Given the description of an element on the screen output the (x, y) to click on. 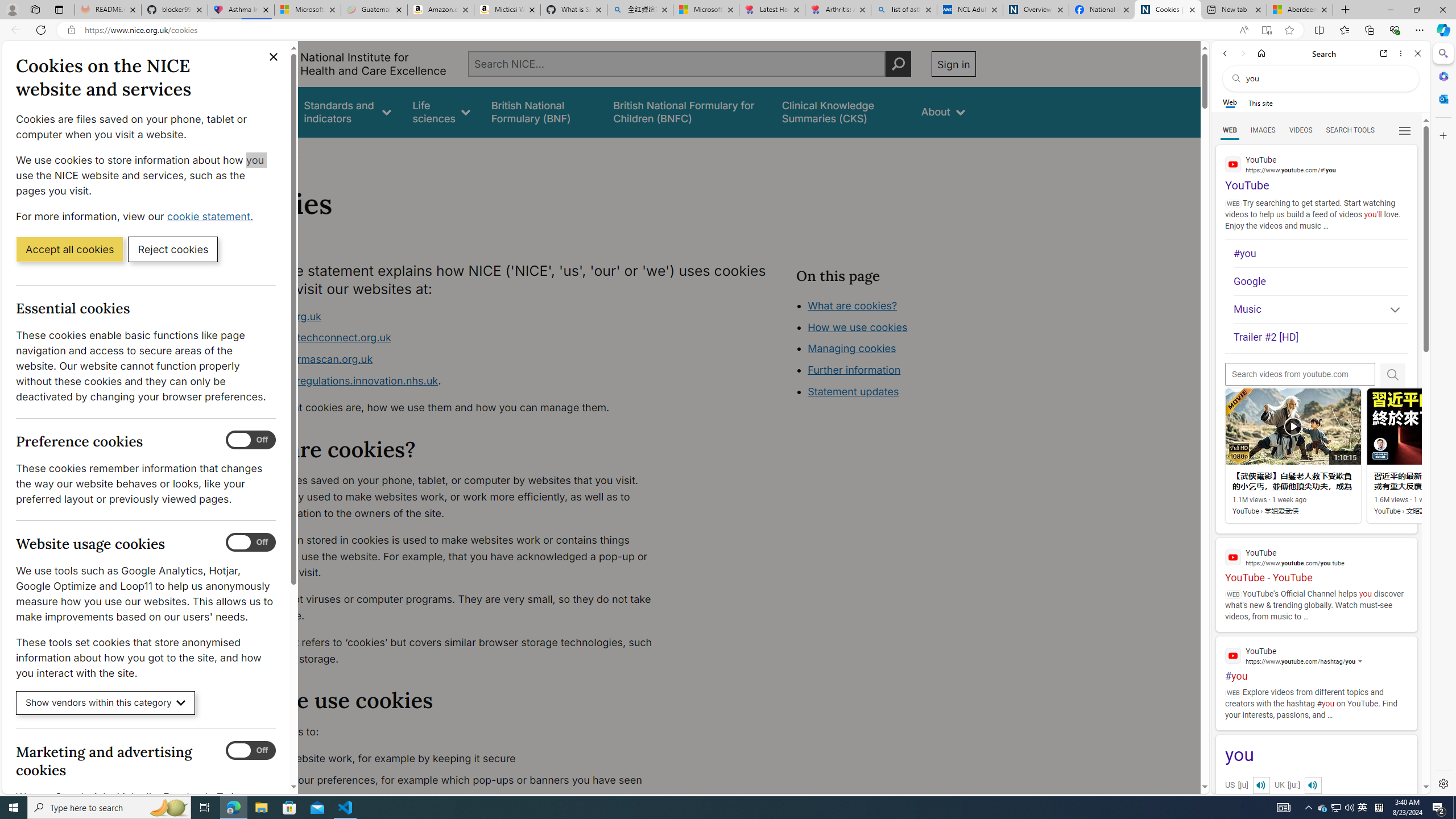
Further information (854, 369)
VIDEOS (1300, 130)
Home> (246, 152)
Google (1320, 281)
Cookies | About | NICE (1167, 9)
Google (1320, 281)
Life sciences (440, 111)
Search the web (1326, 78)
How we use cookies (857, 327)
